Given the description of an element on the screen output the (x, y) to click on. 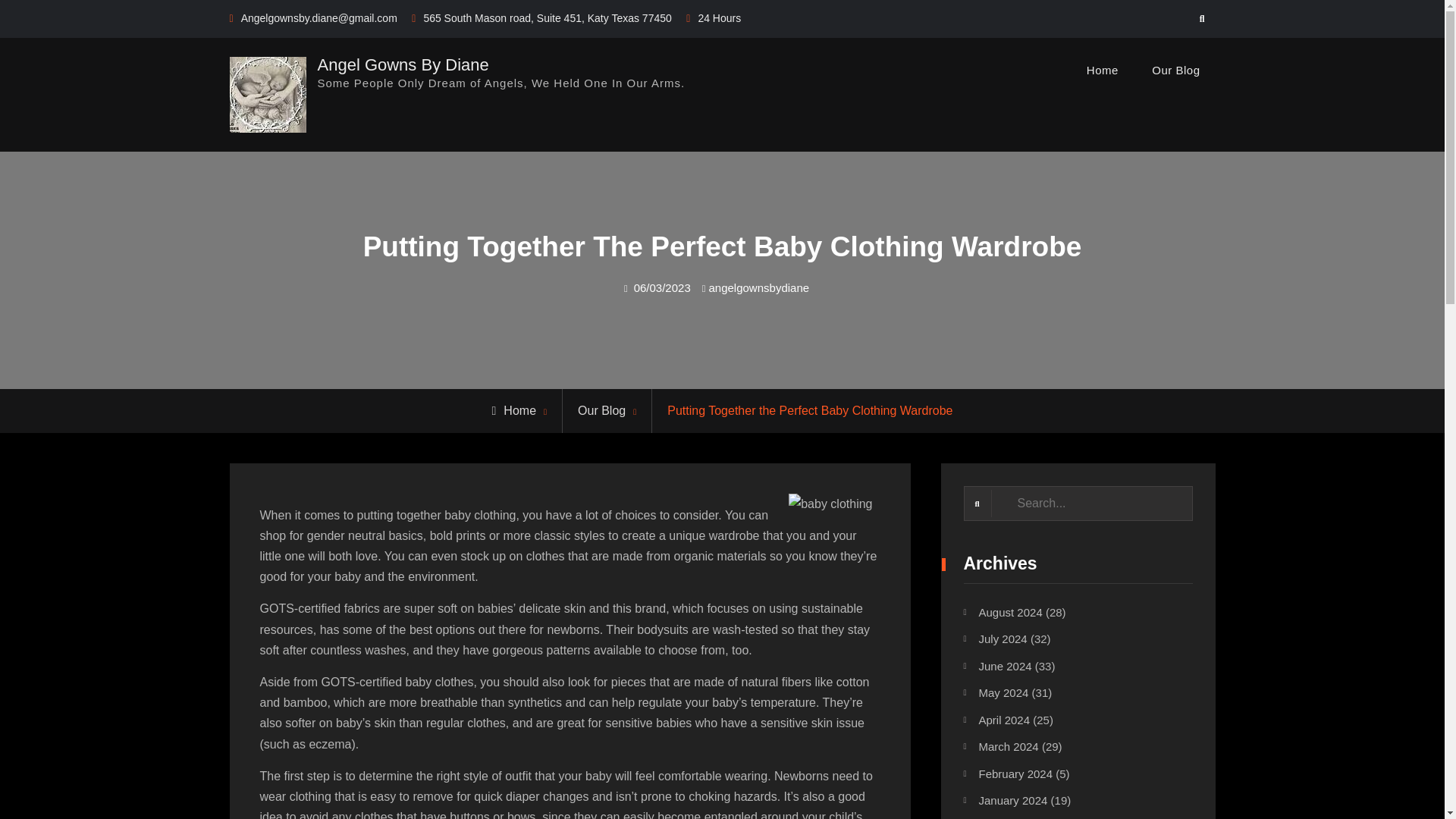
February 2024 (1015, 773)
Our Blog (1175, 69)
Home (514, 410)
Home (1102, 69)
April 2024 (1003, 719)
May 2024 (1002, 692)
July 2024 (1002, 638)
Our Blog (602, 410)
March 2024 (1008, 746)
Angel Gowns By Diane (402, 63)
